Given the description of an element on the screen output the (x, y) to click on. 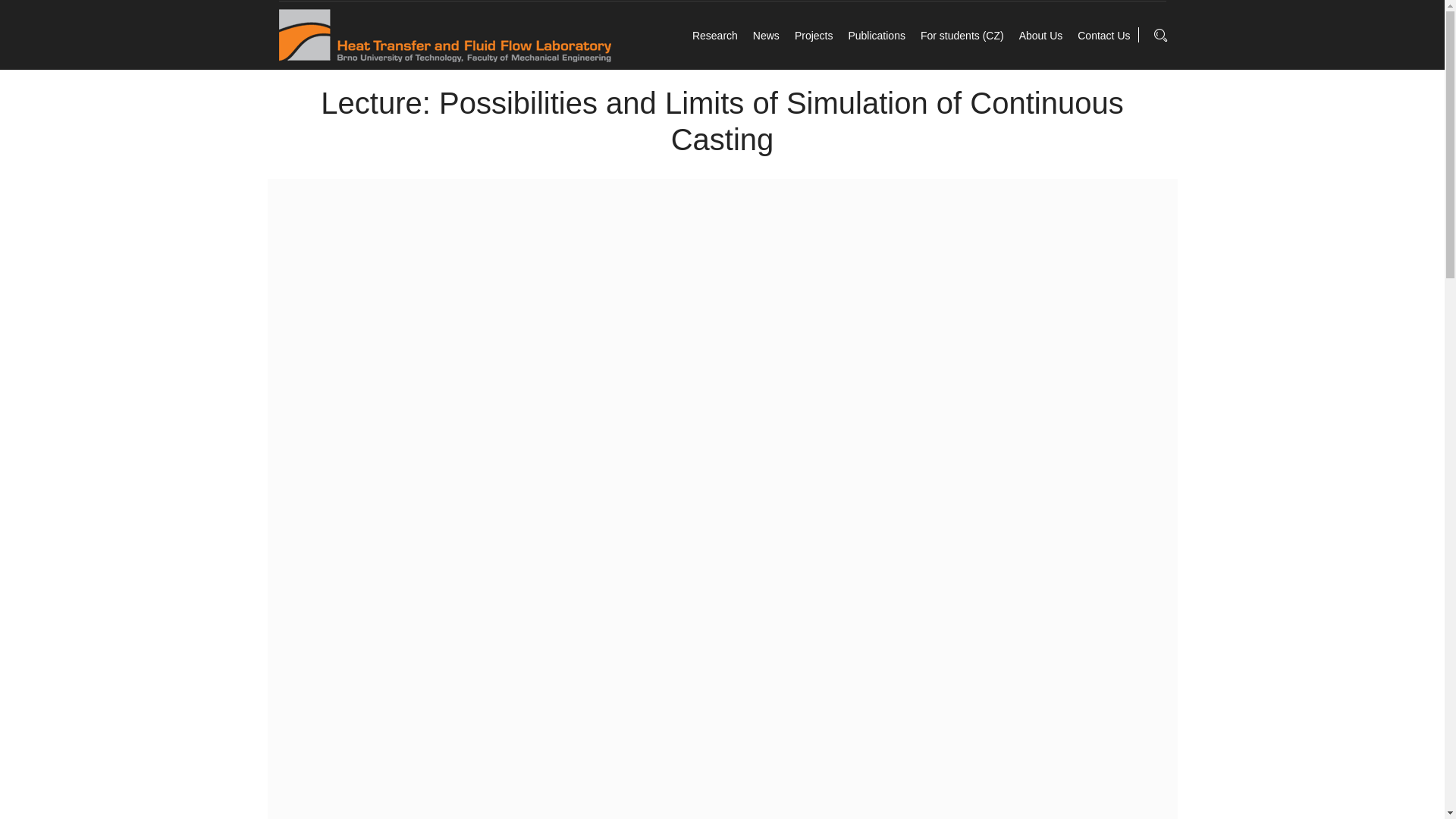
News (765, 34)
Publications (876, 34)
About Us (1040, 34)
Projects (813, 34)
Contact Us (1103, 34)
Research (715, 34)
Heat Transfer and Fluid Flow Laboratory (445, 35)
